Given the description of an element on the screen output the (x, y) to click on. 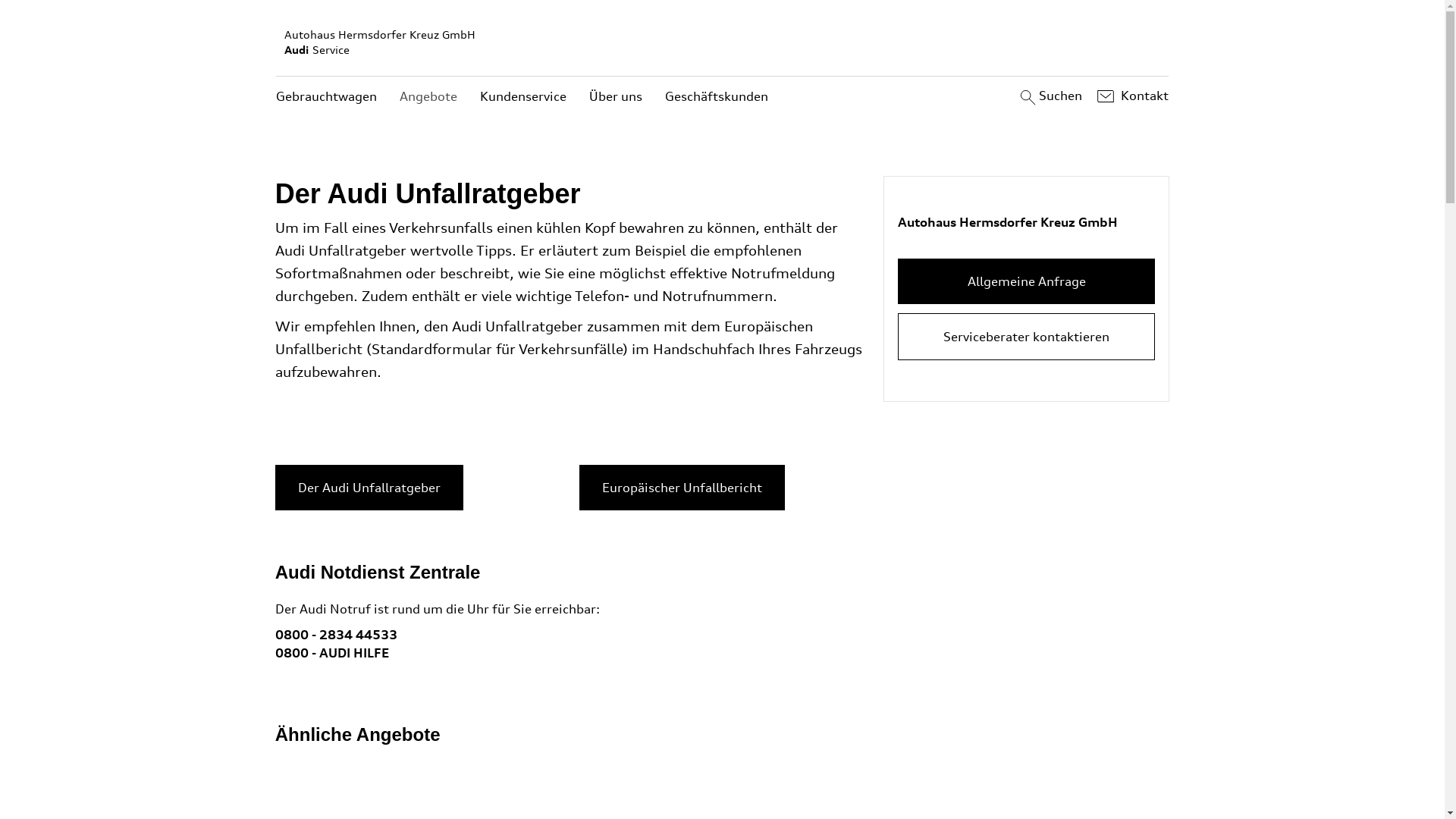
Kontakt Element type: text (1130, 96)
Der Audi Unfallratgeber Element type: text (369, 487)
Suchen Element type: text (1049, 96)
Gebrauchtwagen Element type: text (326, 96)
Allgemeine Anfrage Element type: text (1025, 281)
Angebote Element type: text (428, 96)
Autohaus Hermsdorfer Kreuz GmbH
AudiService Element type: text (722, 42)
Kundenservice Element type: text (523, 96)
Serviceberater kontaktieren Element type: text (1025, 336)
